Given the description of an element on the screen output the (x, y) to click on. 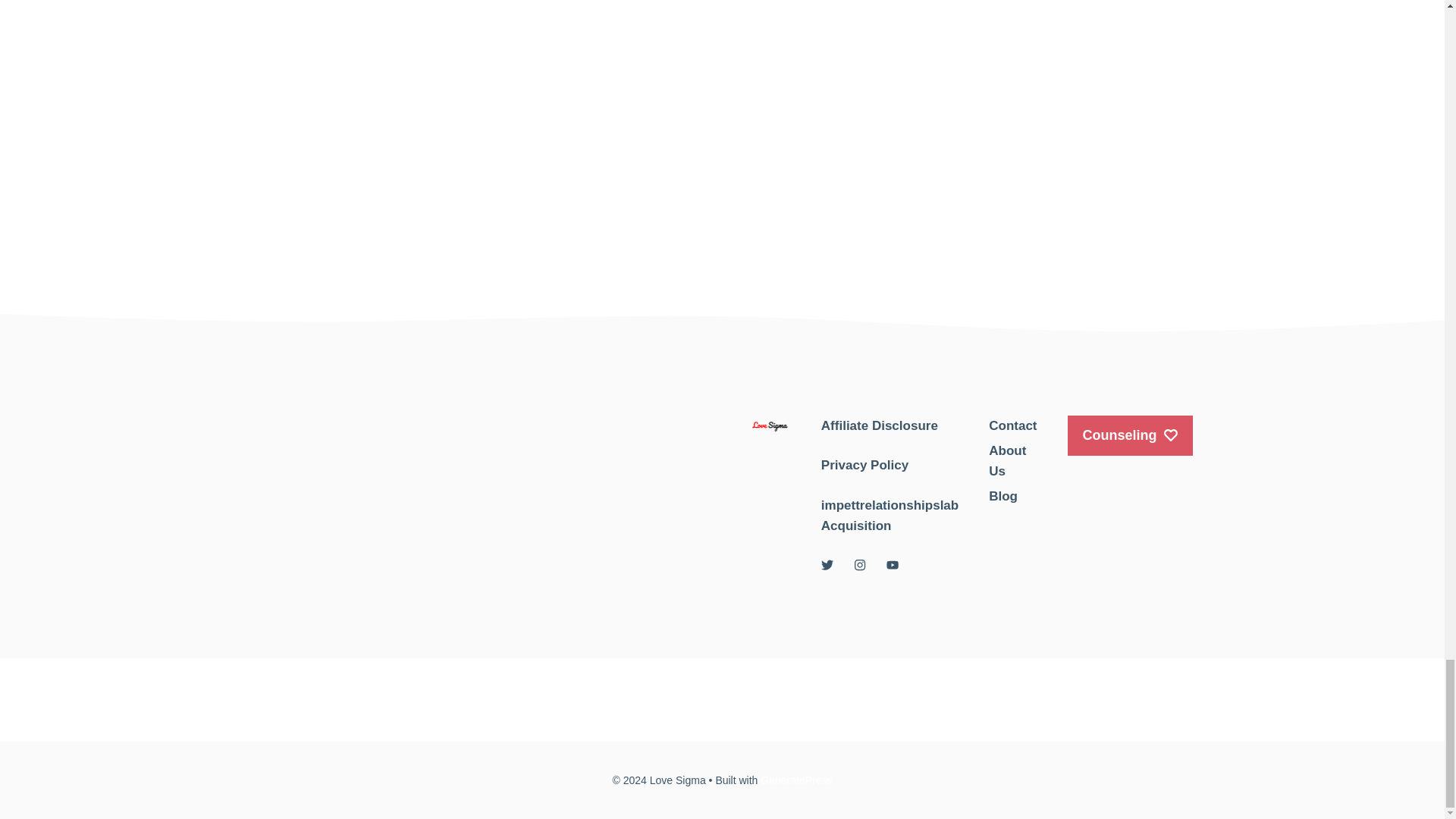
Affiliate Disclosure (879, 425)
Privacy Policy (864, 464)
